Given the description of an element on the screen output the (x, y) to click on. 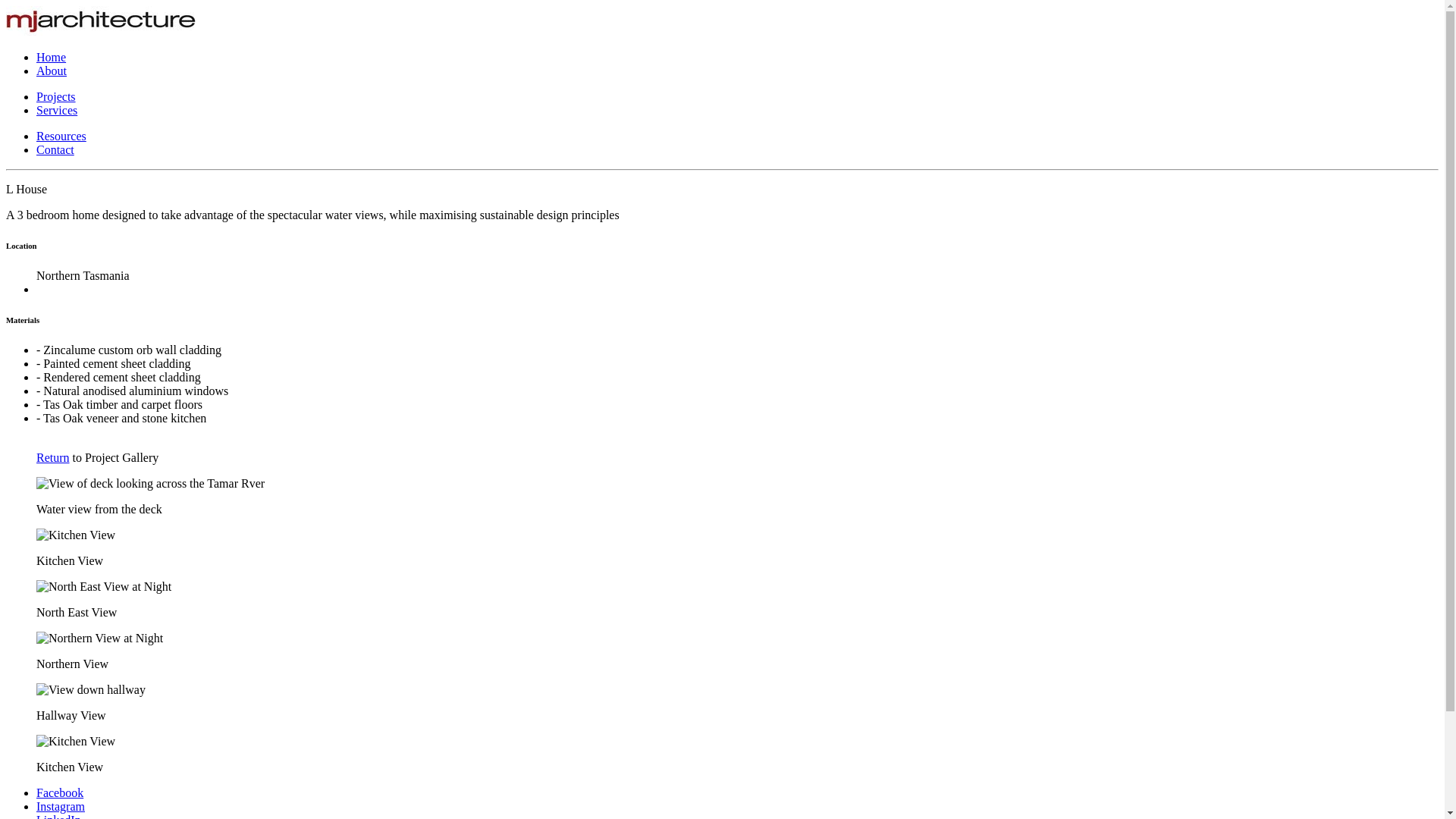
About Element type: text (51, 70)
Home Element type: text (50, 56)
Resources Element type: text (61, 135)
Contact Element type: text (55, 149)
Facebook Element type: text (59, 792)
Return Element type: text (52, 464)
Projects Element type: text (55, 96)
Instagram Element type: text (60, 806)
Services Element type: text (56, 109)
